Given the description of an element on the screen output the (x, y) to click on. 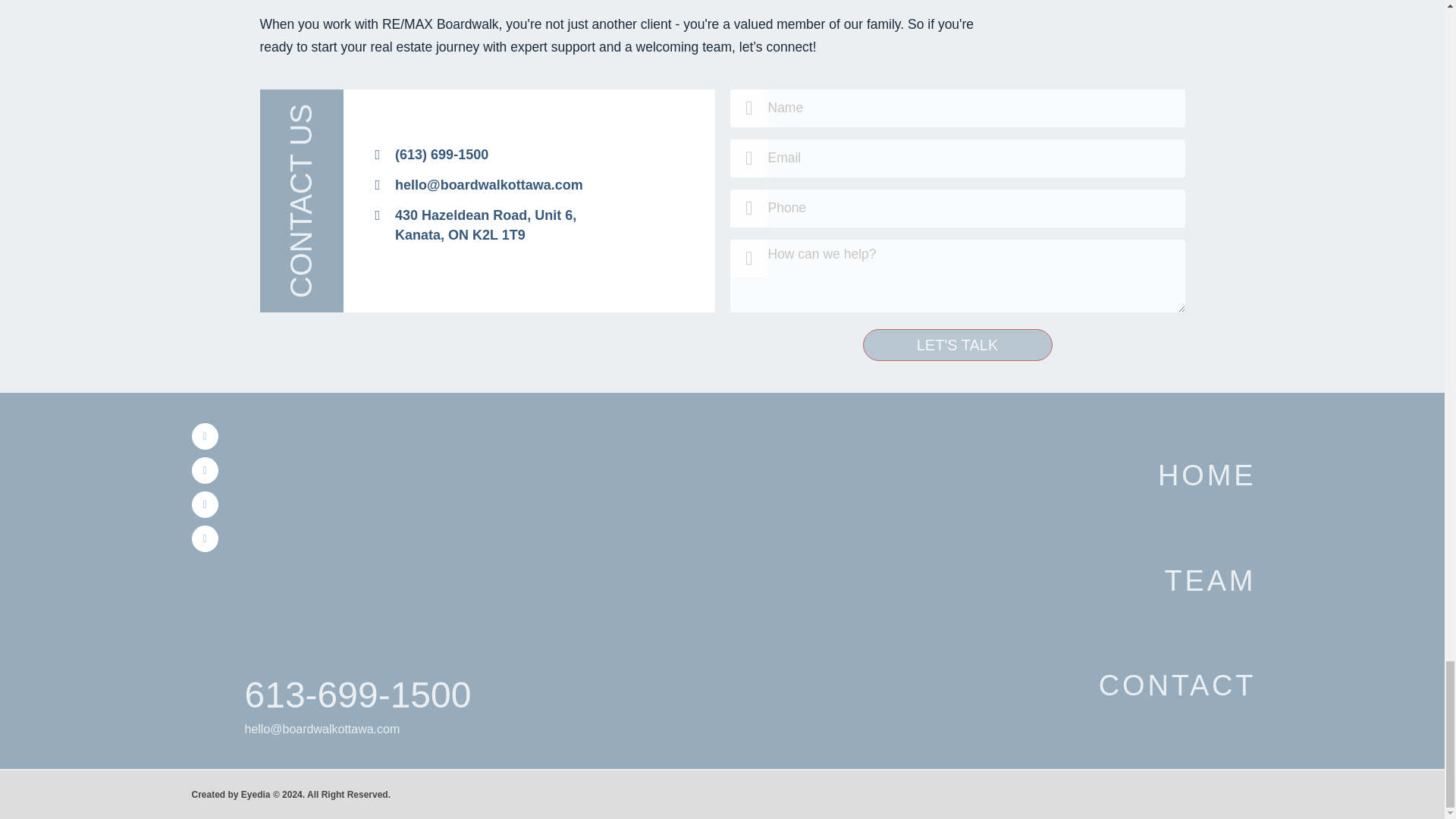
Let's talk (957, 345)
613-699-1500 (357, 695)
Let's talk (957, 345)
Created by Eyedia (229, 794)
HOME (1204, 475)
CONTACT (1176, 685)
TEAM (475, 225)
